Given the description of an element on the screen output the (x, y) to click on. 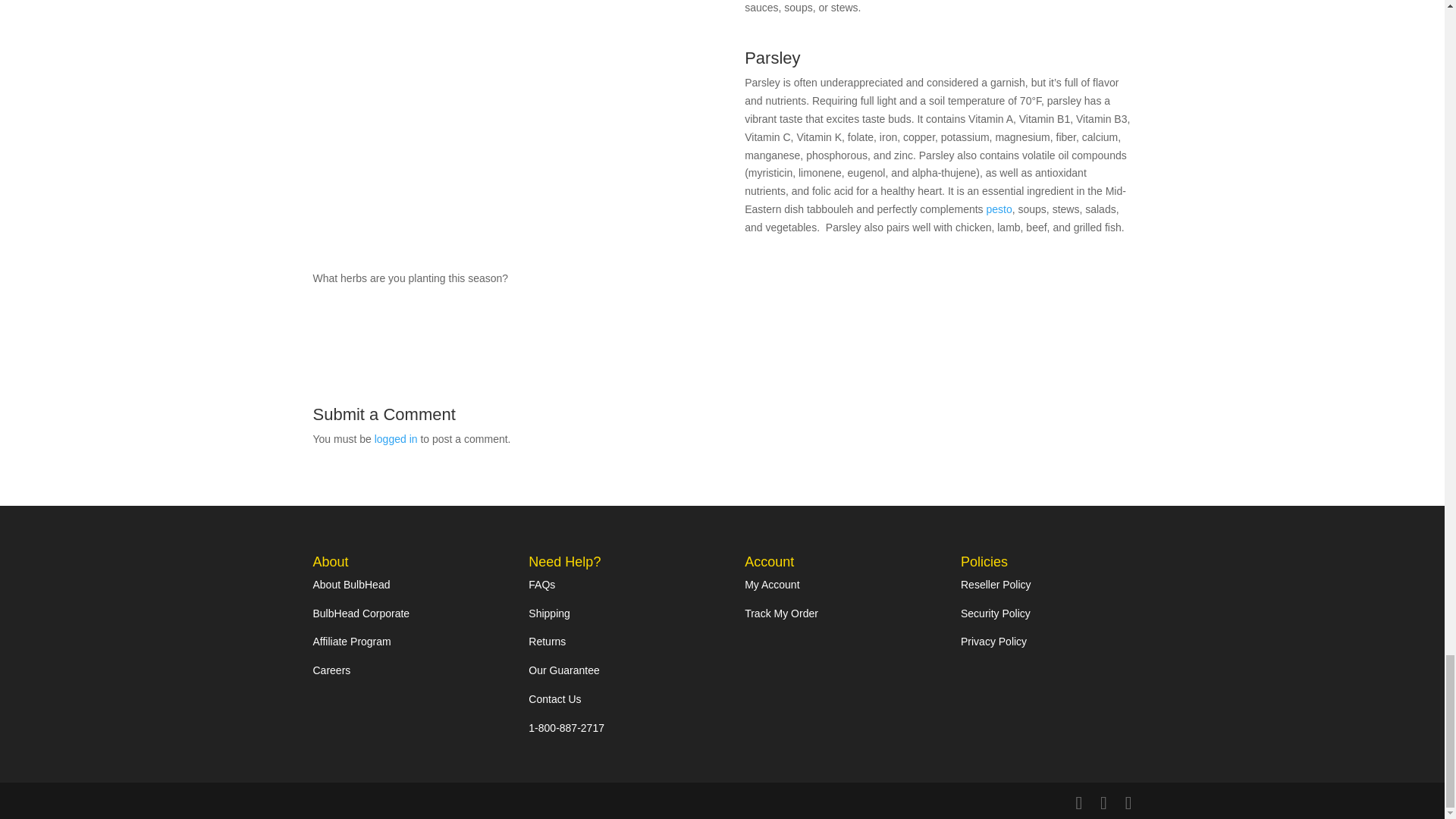
Our Guarantee (563, 670)
Contact Us (554, 698)
My Account (771, 584)
Affiliate Program (351, 641)
Privacy Policy (993, 641)
logged in (395, 439)
Returns (547, 641)
About BulbHead (351, 584)
Track My Order (781, 613)
Shipping (549, 613)
FAQs (541, 584)
Reseller Policy (995, 584)
pesto (998, 209)
Careers (331, 670)
BulbHead Corporate (361, 613)
